Given the description of an element on the screen output the (x, y) to click on. 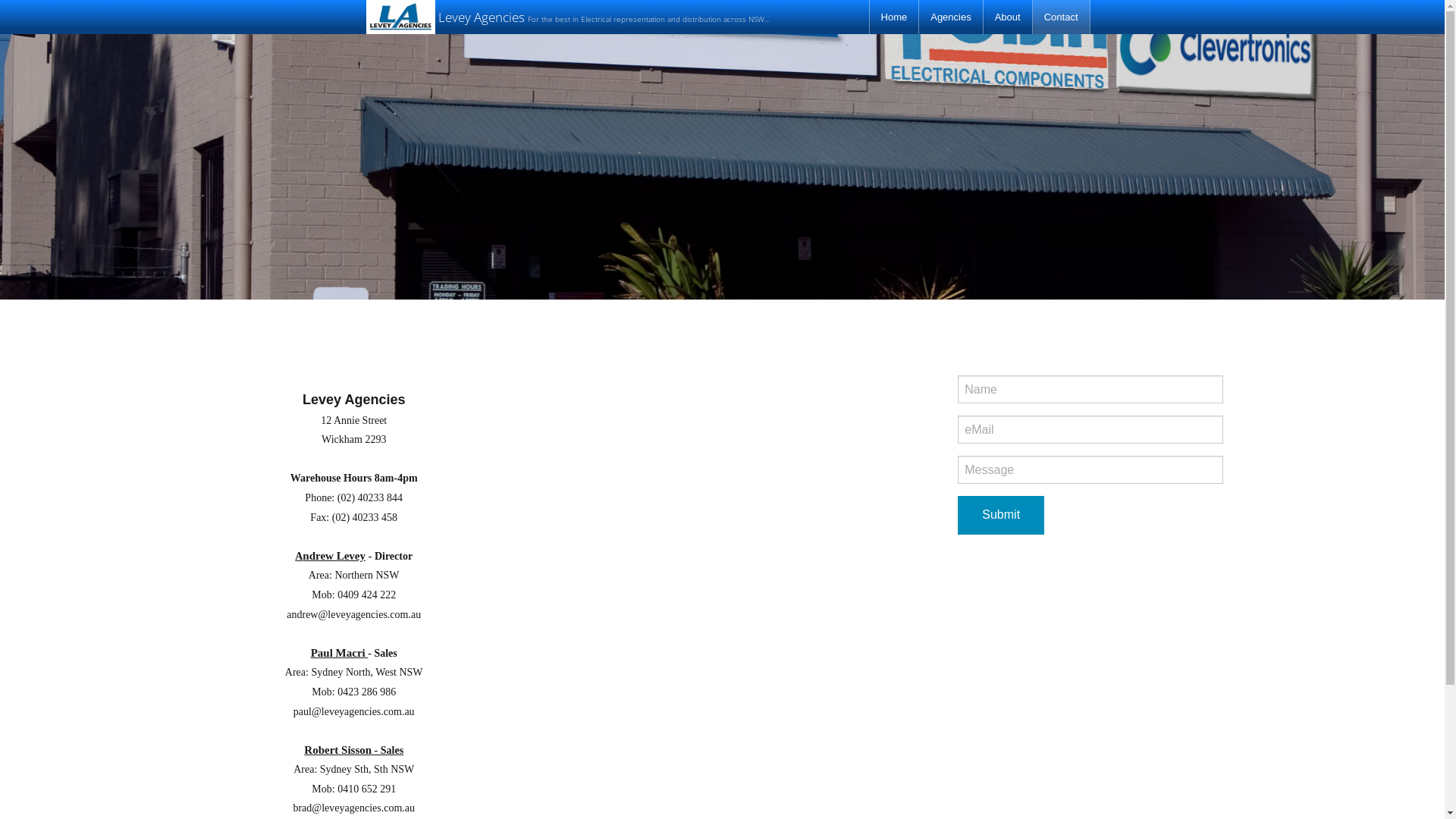
Agencies Element type: text (950, 17)
Home Element type: text (894, 17)
Contact Element type: text (1060, 17)
About Element type: text (1007, 17)
Submit Element type: text (1000, 514)
